Given the description of an element on the screen output the (x, y) to click on. 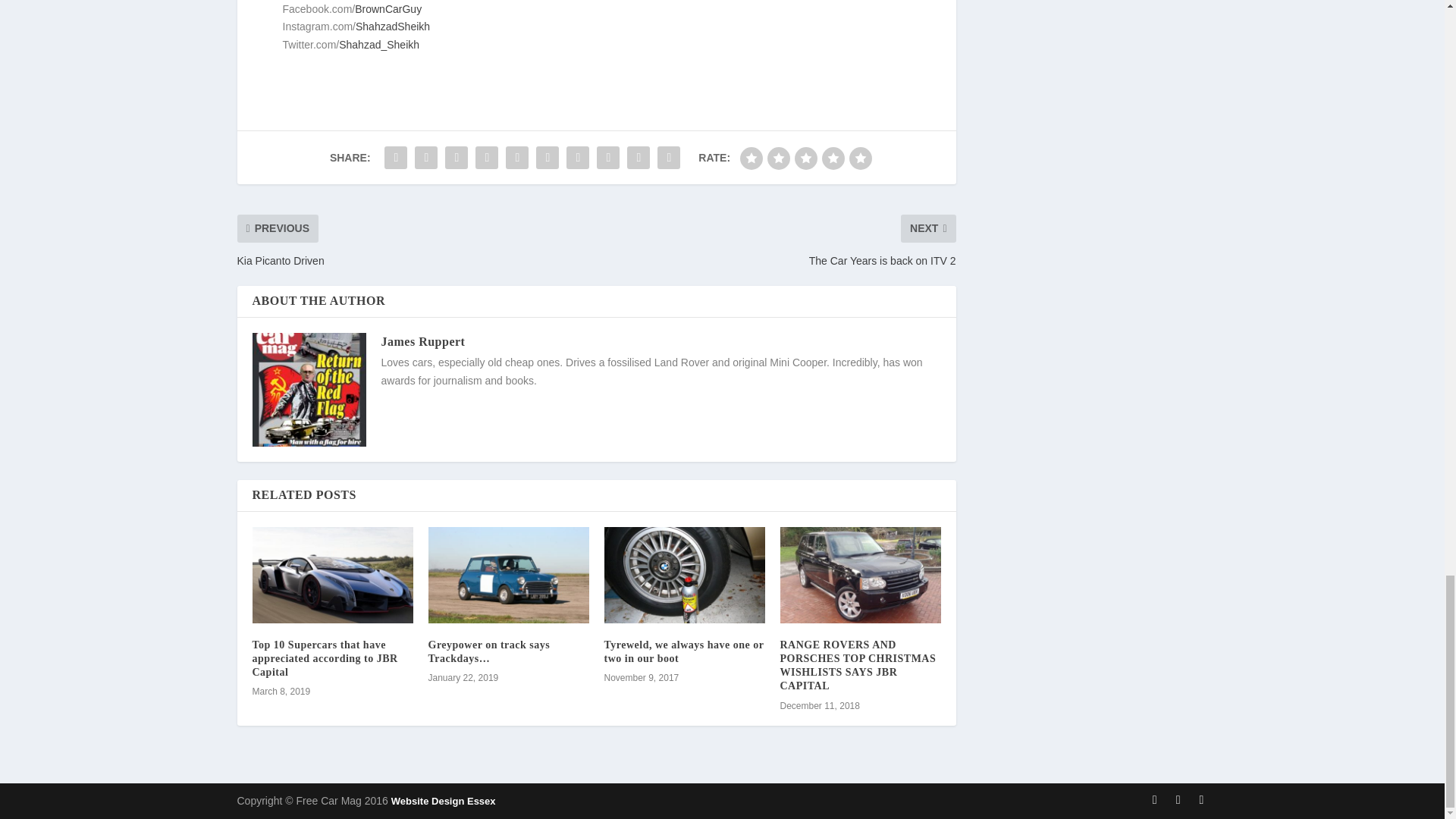
ShahzadSheikh (392, 26)
BrownCarGuy (388, 9)
